Given the description of an element on the screen output the (x, y) to click on. 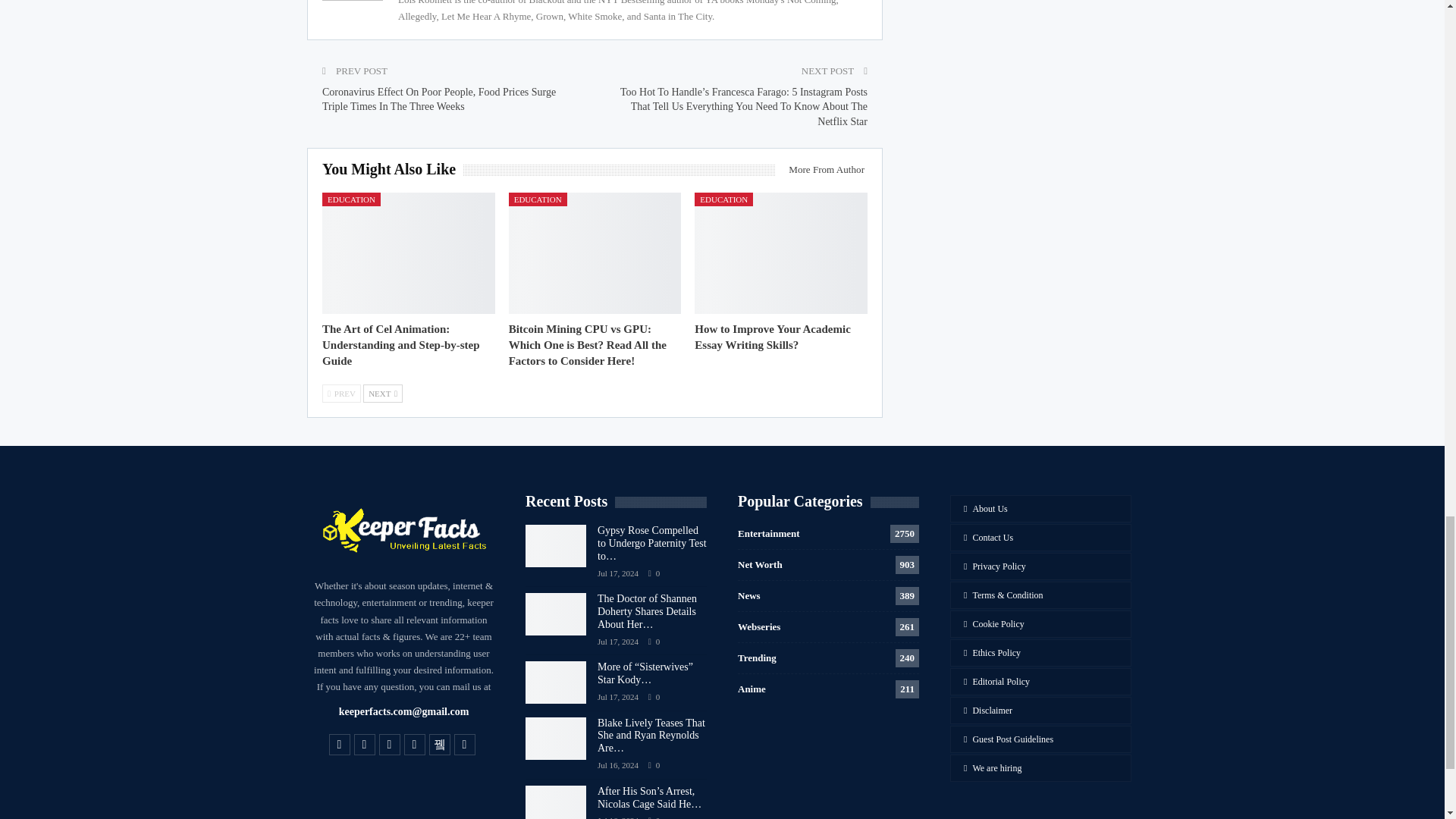
Previous (341, 393)
How to Improve Your Academic Essay Writing Skills? (780, 252)
How to Improve Your Academic Essay Writing Skills? (772, 336)
Next (382, 393)
